Given the description of an element on the screen output the (x, y) to click on. 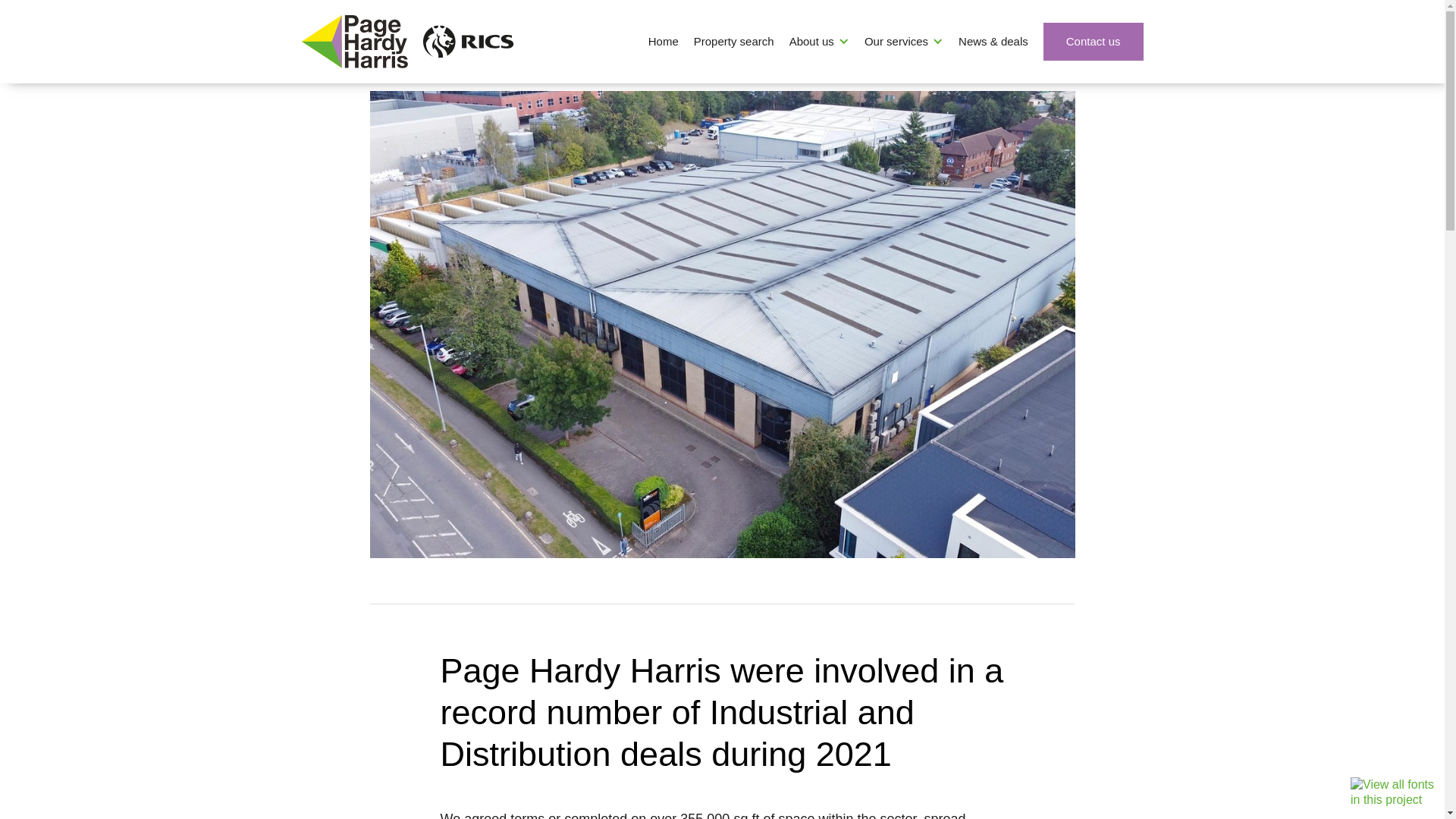
Contact us (1092, 41)
Home (662, 41)
Property search (733, 41)
